Given the description of an element on the screen output the (x, y) to click on. 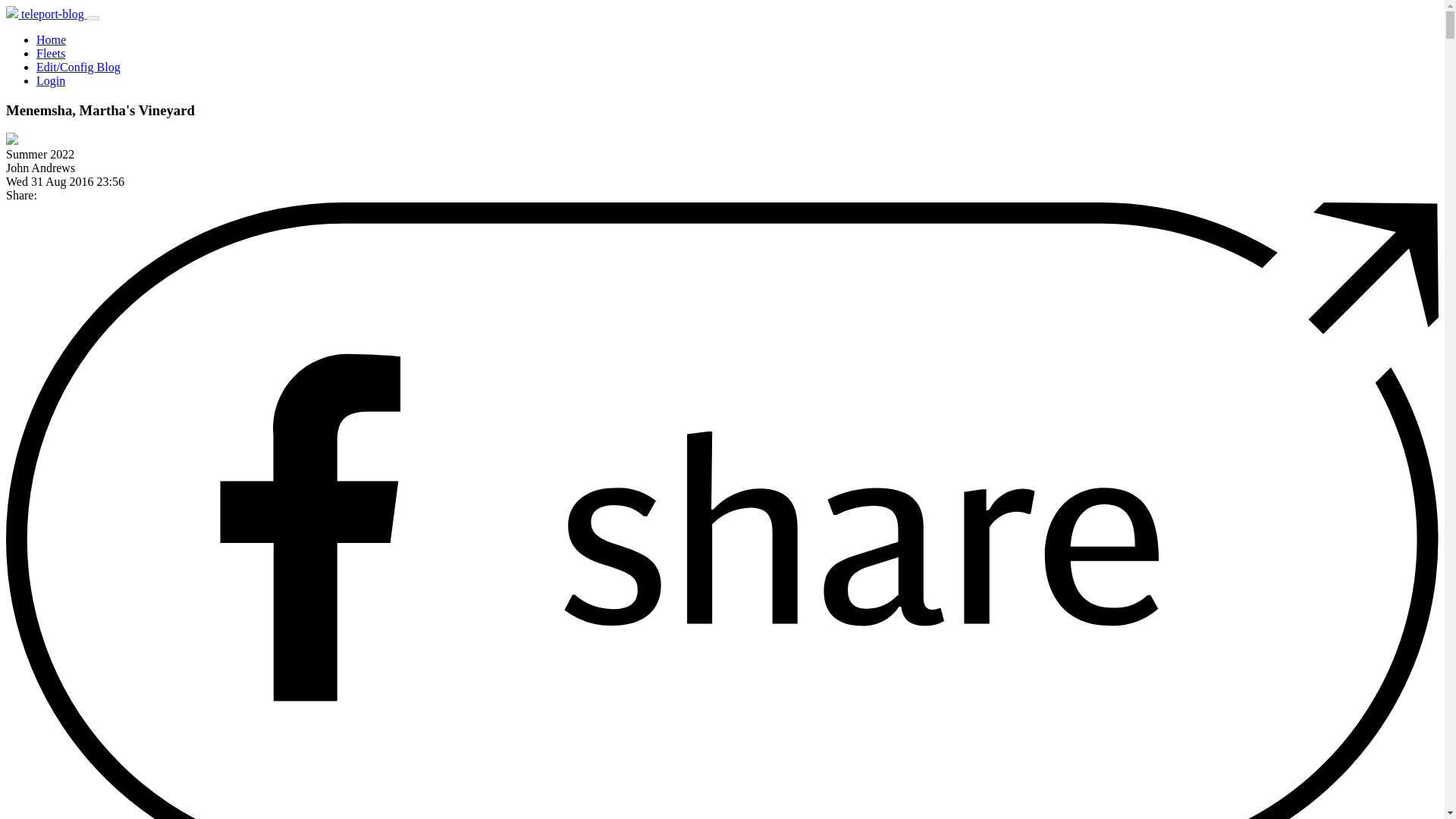
Login (50, 80)
Fleets (50, 52)
Home (50, 39)
teleport-blog (46, 13)
